Given the description of an element on the screen output the (x, y) to click on. 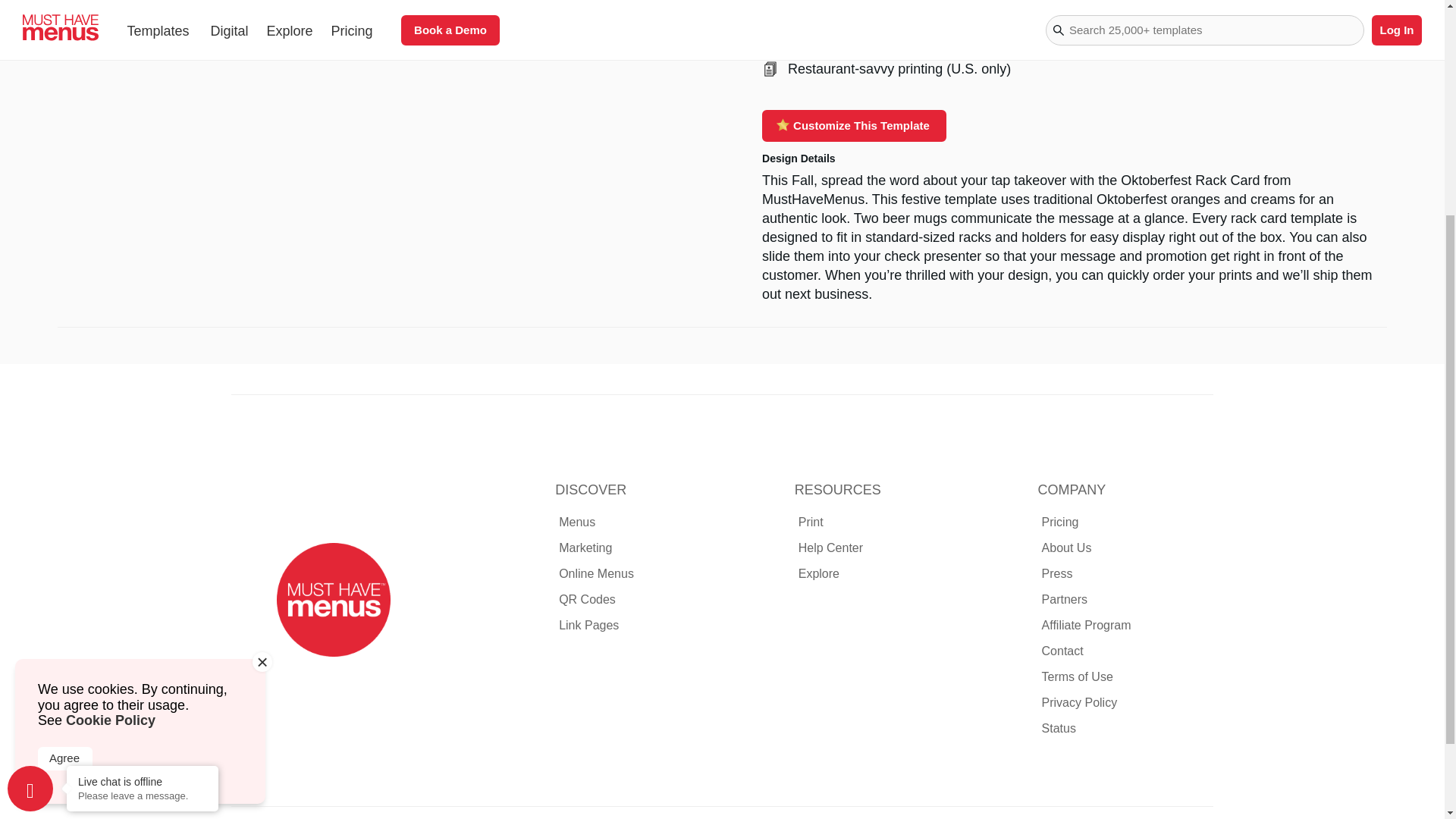
Please leave a message. (142, 479)
Customize This Template (853, 125)
Live chat is offline (142, 465)
